Given the description of an element on the screen output the (x, y) to click on. 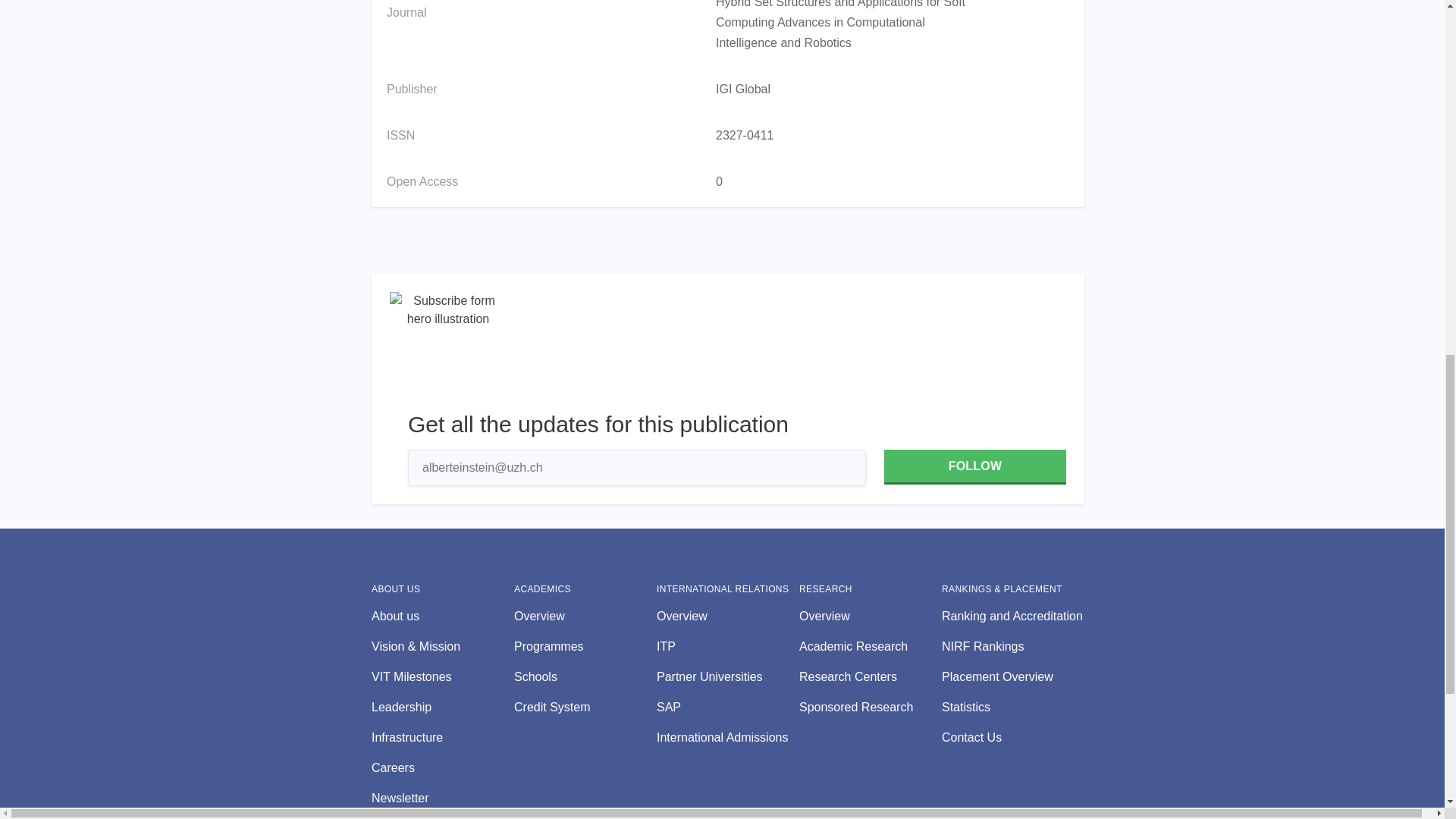
Leadership (442, 707)
SAP (727, 707)
Overview (584, 616)
Contact Us (1013, 737)
Placement Overview (1013, 677)
Subscribe form hero illustration (448, 349)
Overview (870, 616)
Programmes (584, 647)
Statistics (1013, 707)
ITP (727, 647)
VIT Milestones (442, 677)
Newsletter (442, 798)
NIRF Rankings (1013, 647)
Academic Research (870, 647)
Schools (584, 677)
